Given the description of an element on the screen output the (x, y) to click on. 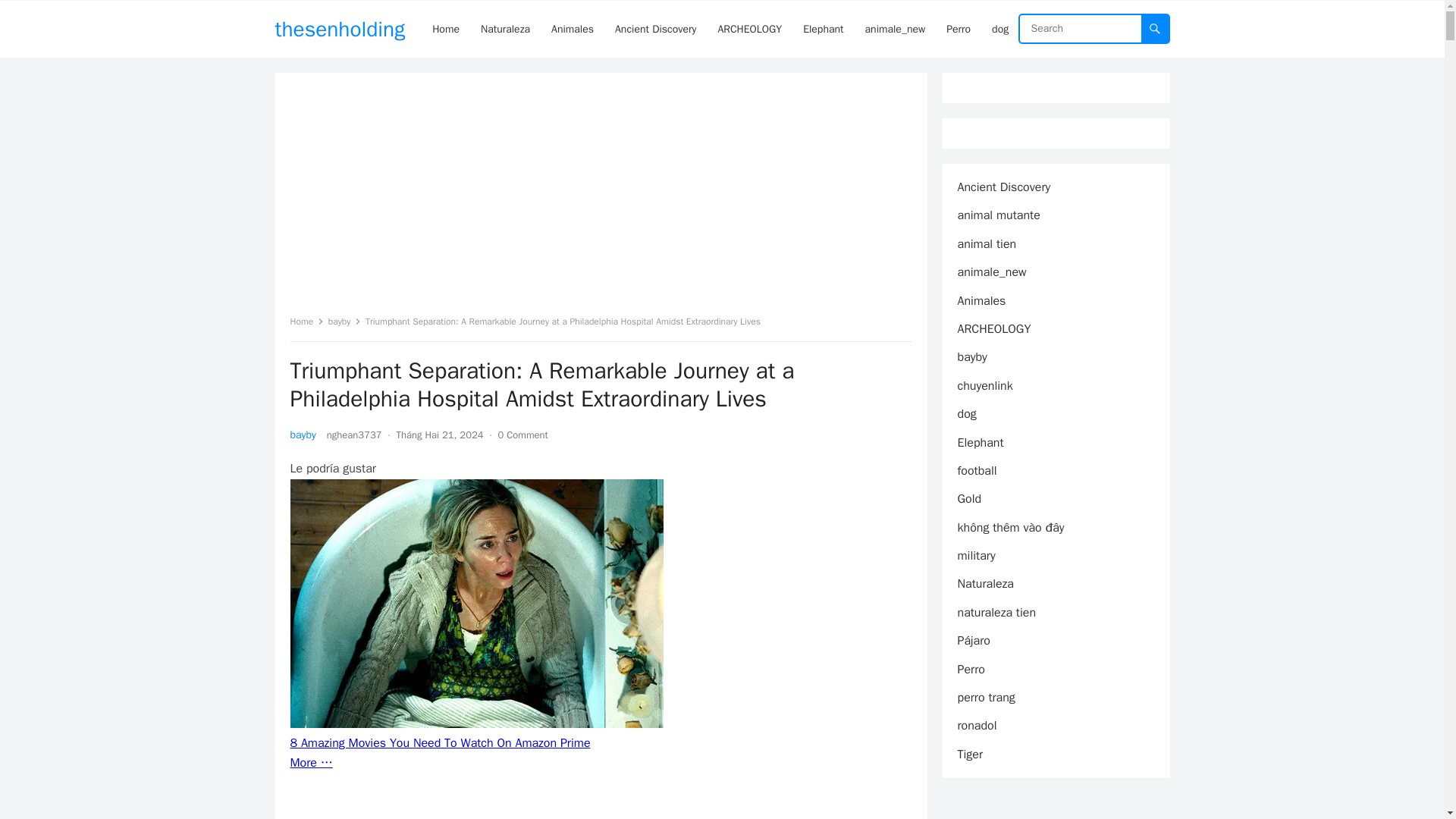
Animales (571, 28)
Naturaleza (504, 28)
Home (306, 321)
Elephant (822, 28)
bayby (345, 321)
nghean3737 (353, 434)
thesenholding (339, 28)
bayby (302, 434)
ARCHEOLOGY (748, 28)
Advertisement (600, 200)
